Given the description of an element on the screen output the (x, y) to click on. 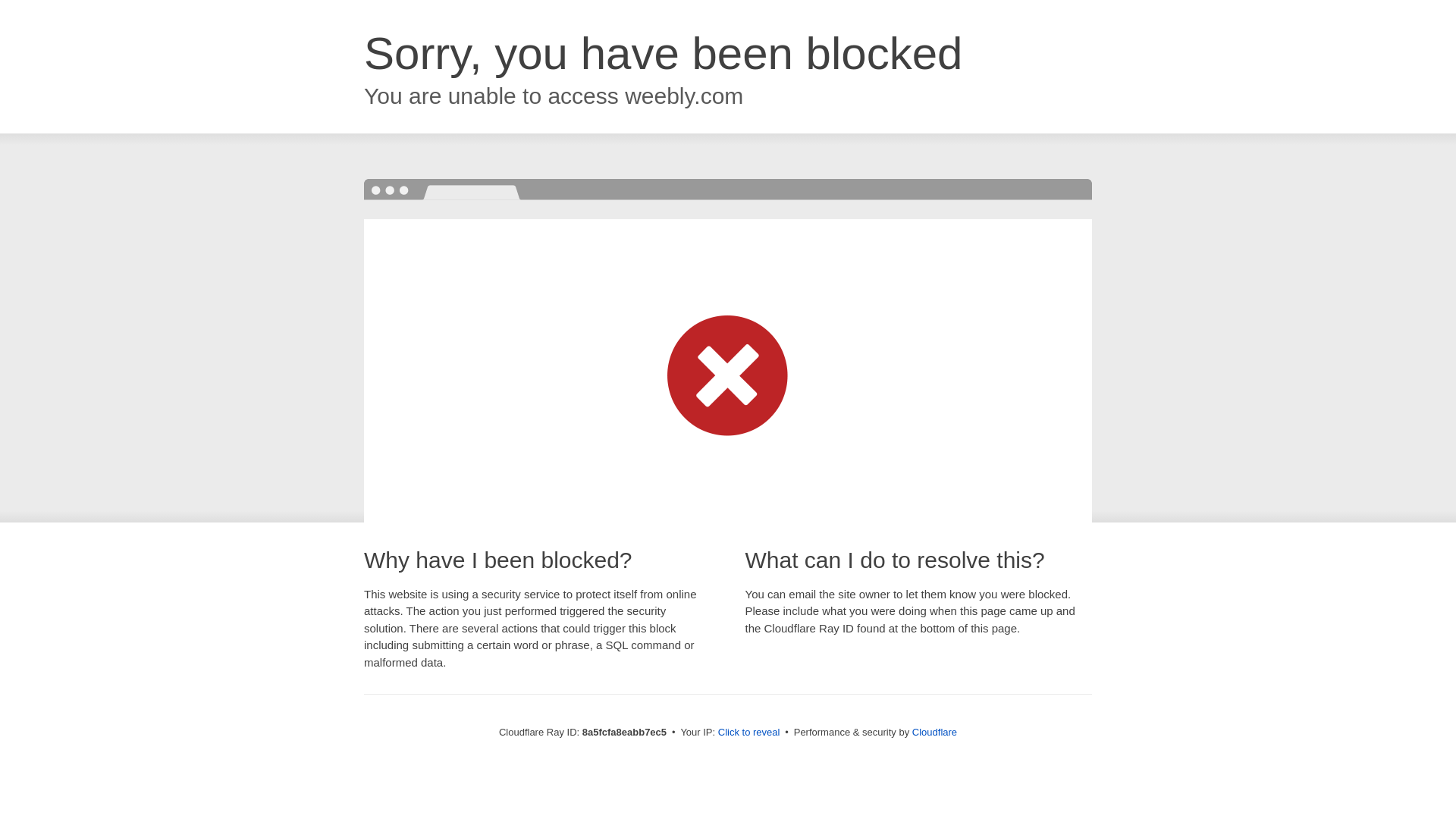
Click to reveal (748, 732)
Cloudflare (934, 731)
